Given the description of an element on the screen output the (x, y) to click on. 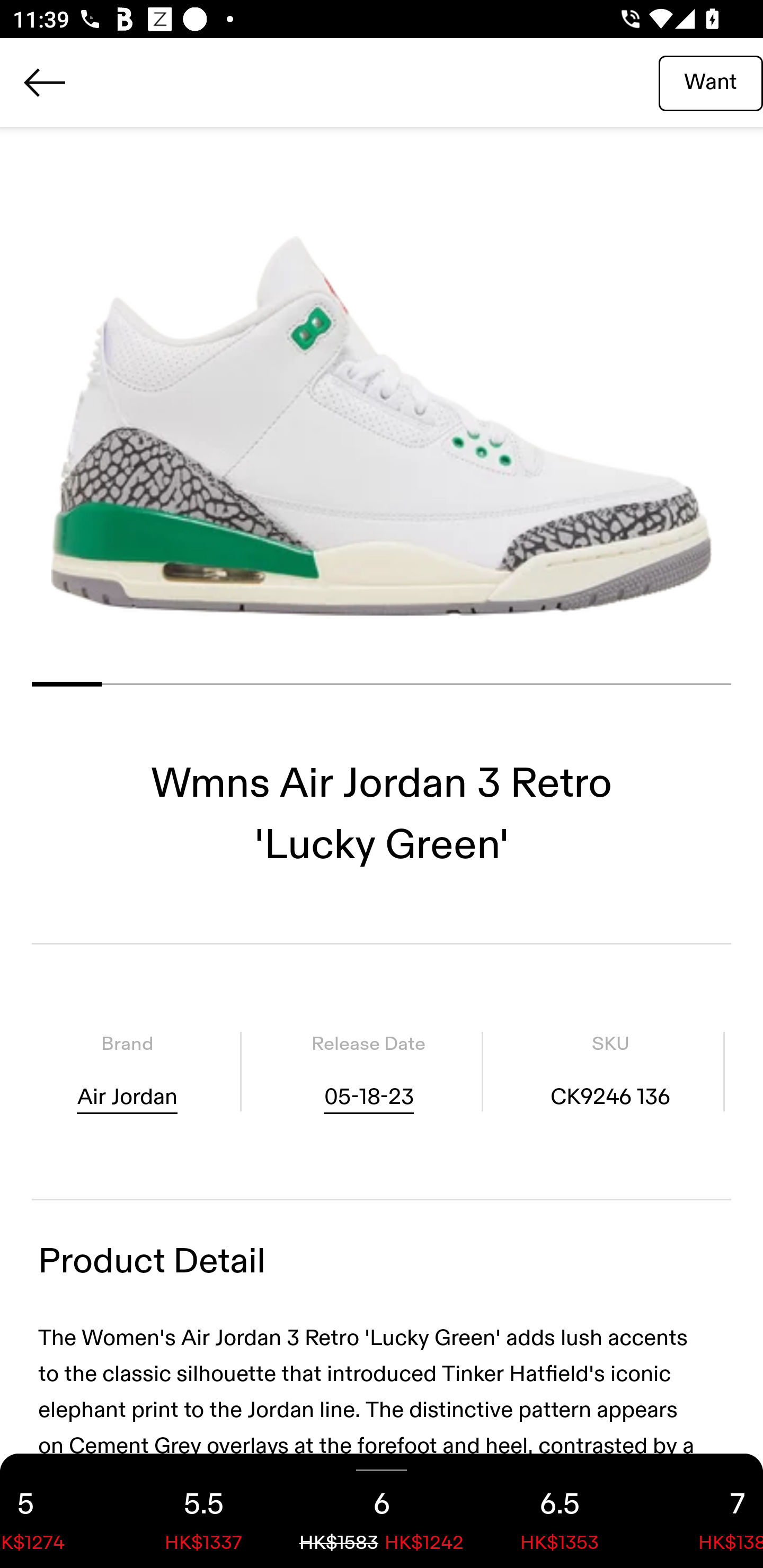
Want (710, 82)
Brand Air Jordan (126, 1070)
Release Date 05-18-23 (368, 1070)
SKU CK9246 136 (609, 1070)
5 HK$1274 (57, 1510)
5.5 HK$1337 (203, 1510)
6 HK$1583 HK$1242 (381, 1510)
6.5 HK$1353 (559, 1510)
7 HK$1385 (705, 1510)
